Given the description of an element on the screen output the (x, y) to click on. 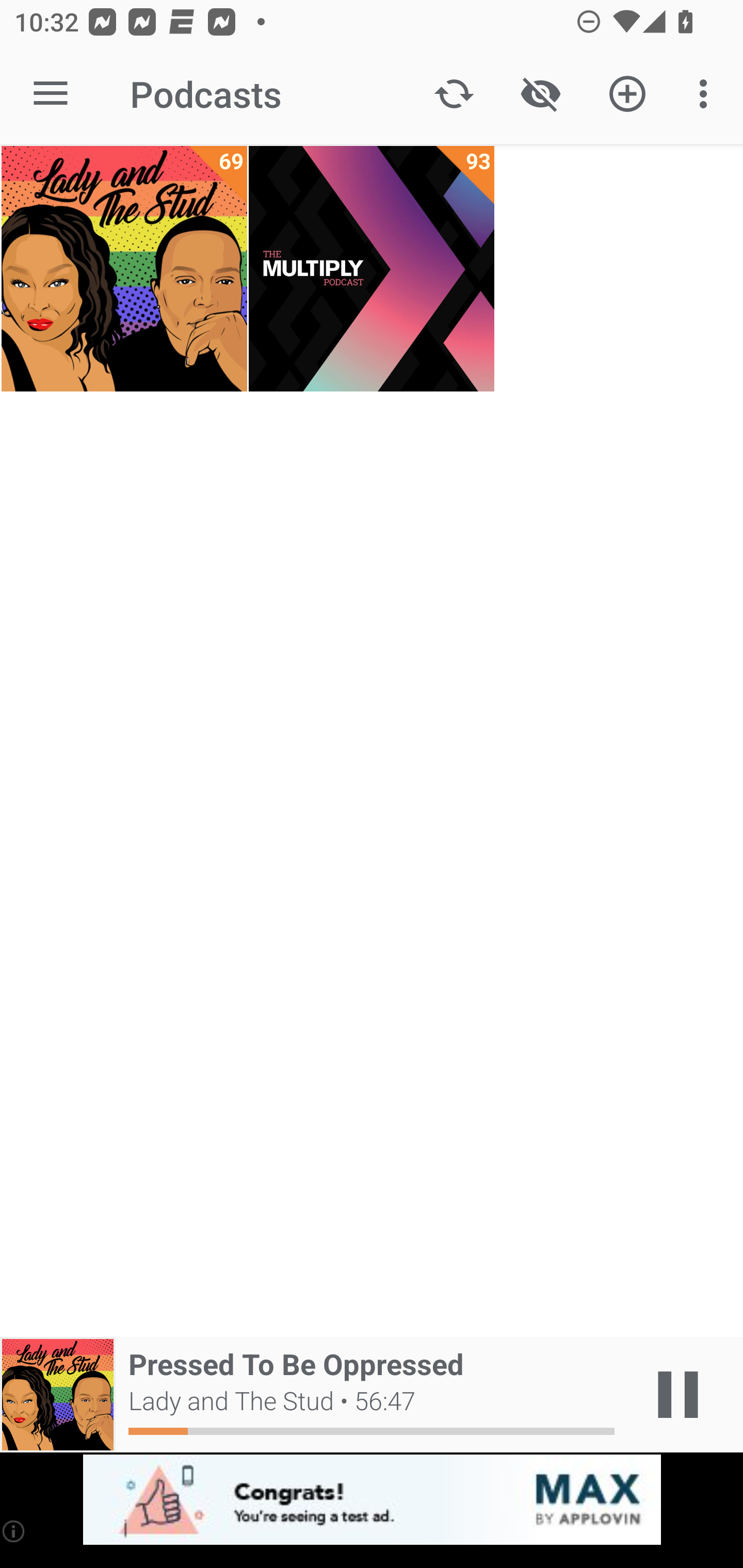
Open navigation sidebar (50, 93)
Update (453, 93)
Show / Hide played content (540, 93)
Add new Podcast (626, 93)
More options (706, 93)
Lady and The Stud 69 (124, 268)
The Multiply Podcast 93 (371, 268)
Play / Pause (677, 1394)
app-monetization (371, 1500)
(i) (14, 1531)
